Given the description of an element on the screen output the (x, y) to click on. 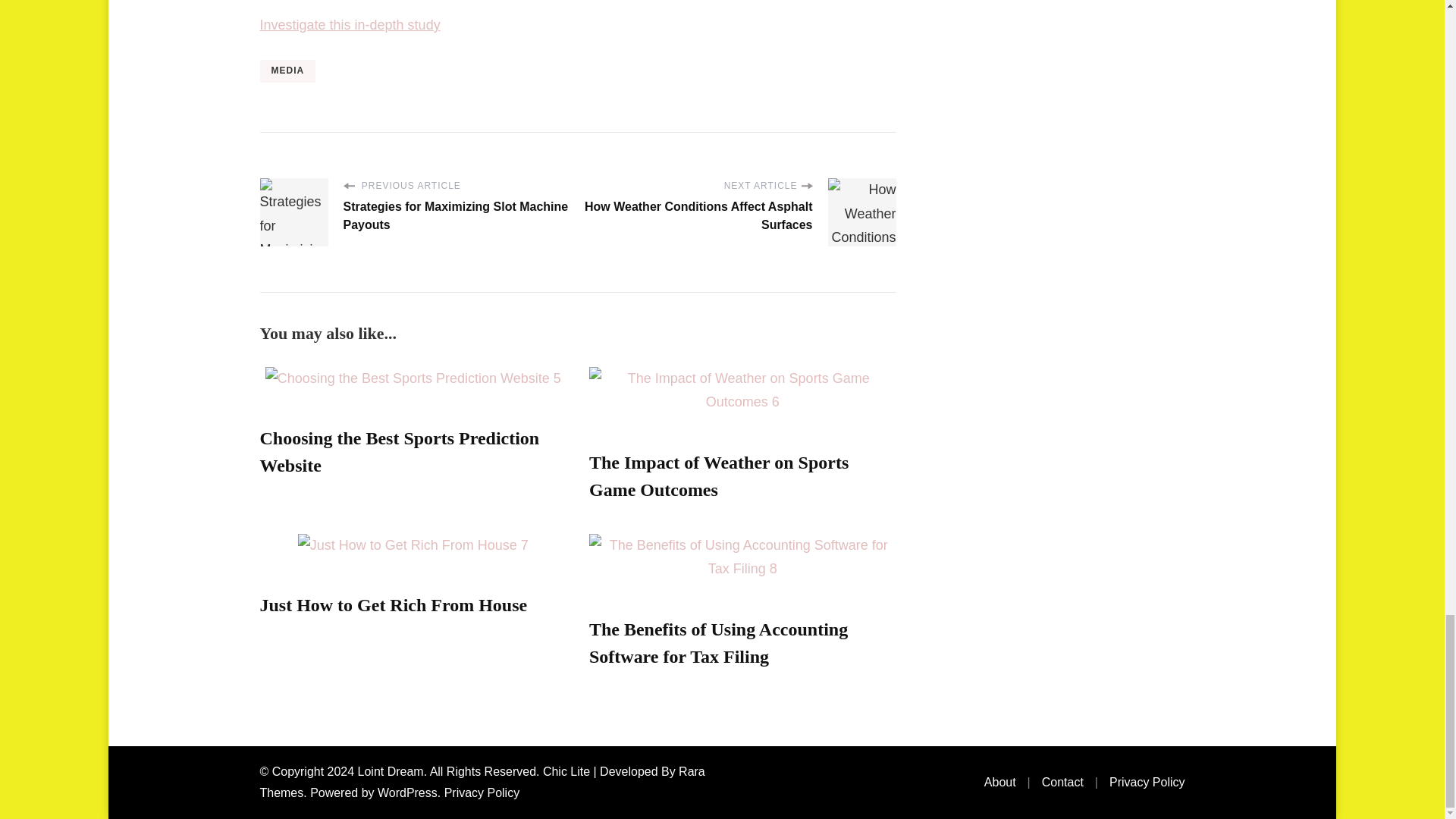
Investigate this in-depth study (349, 24)
Choosing the Best Sports Prediction Website (398, 451)
The Benefits of Using Accounting Software for Tax Filing (718, 642)
MEDIA (287, 70)
The Impact of Weather on Sports Game Outcomes (718, 475)
Just How to Get Rich From House (393, 605)
